Given the description of an element on the screen output the (x, y) to click on. 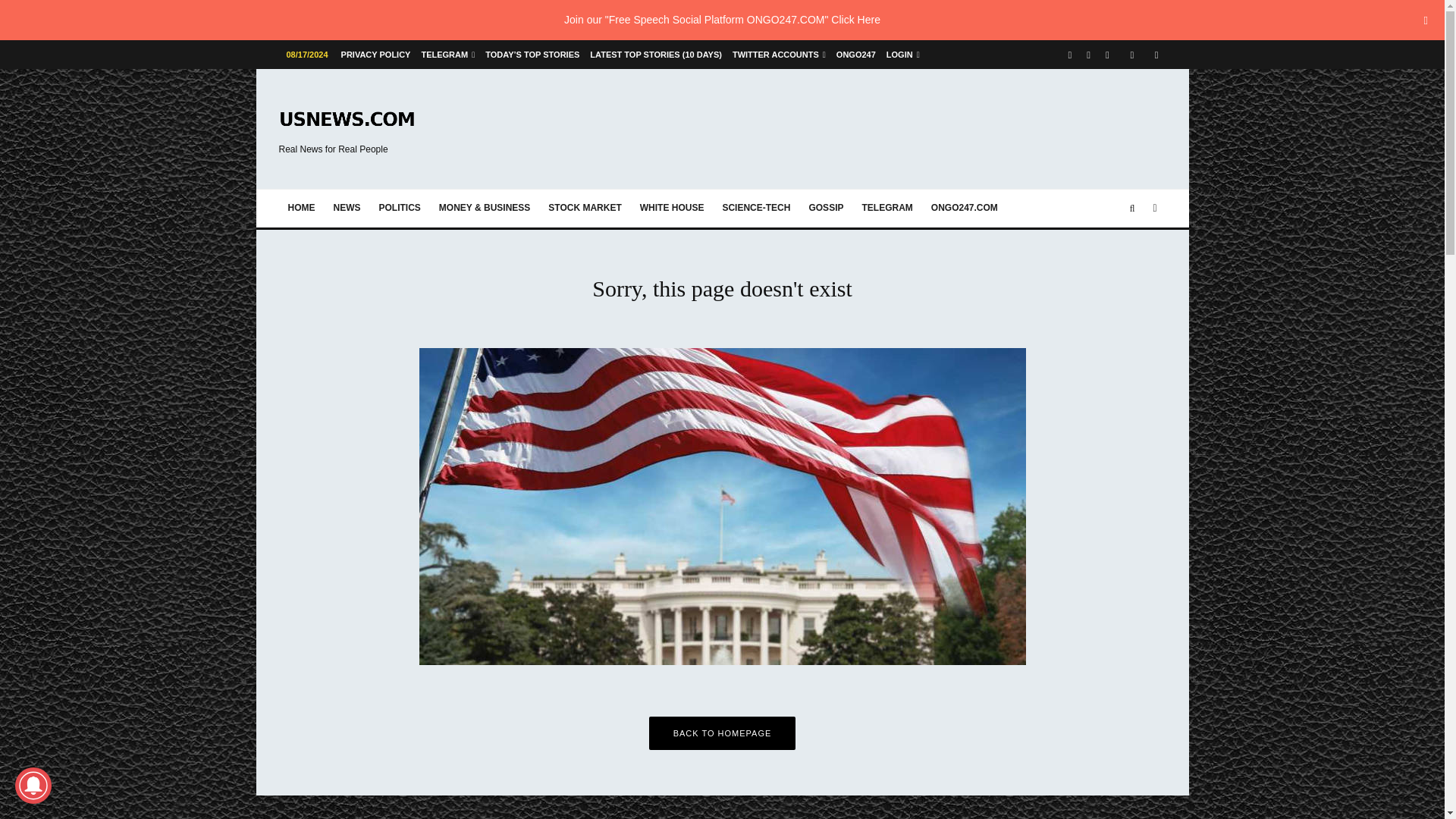
Real News for Real People (346, 129)
PRIVACY POLICY (376, 54)
Homepage (301, 208)
ONGO247 (855, 54)
Advertisement (890, 125)
News Headlines (346, 208)
NEWS (346, 208)
HOME (301, 208)
LOGIN (902, 54)
